Given the description of an element on the screen output the (x, y) to click on. 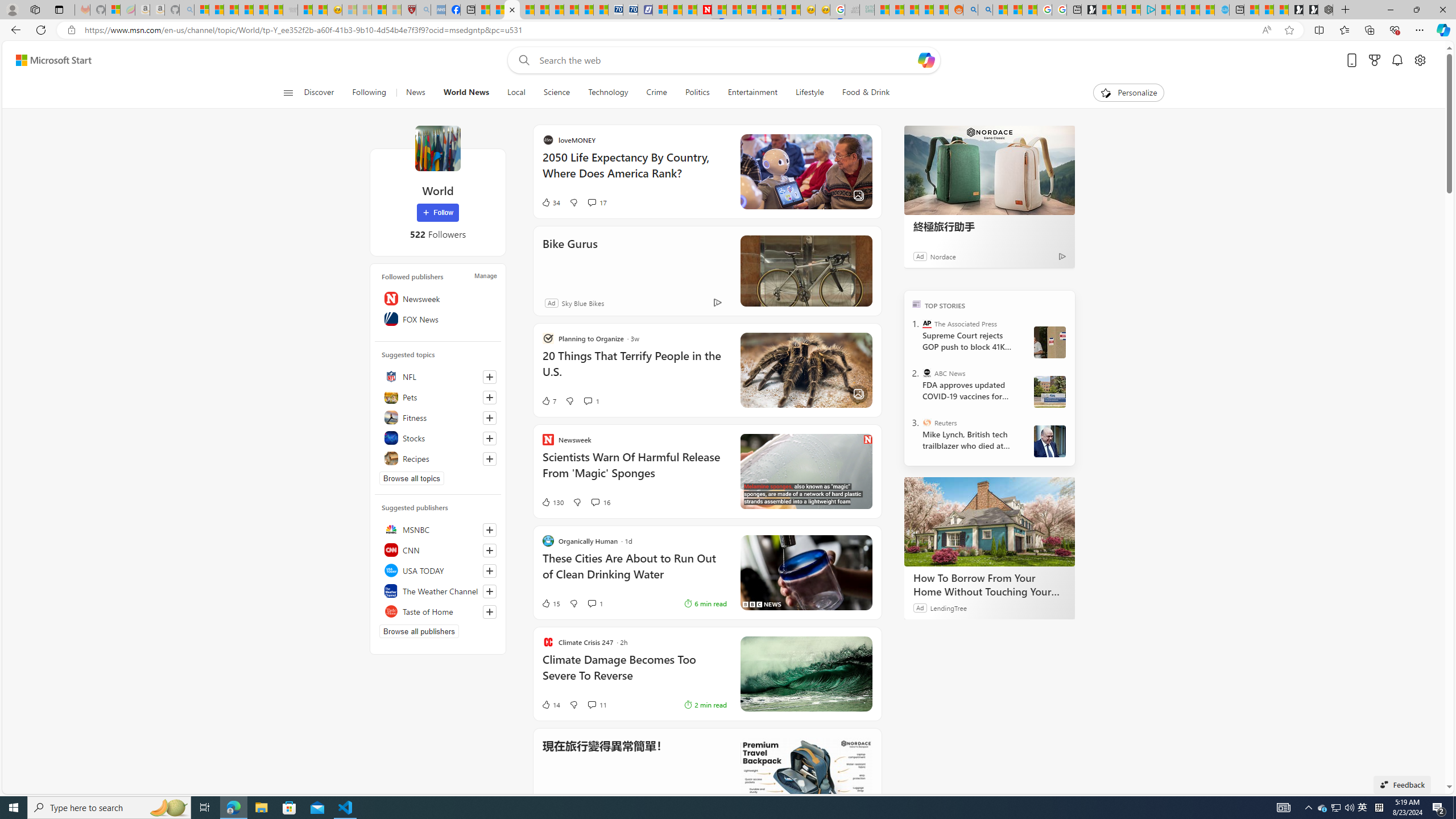
Bike Gurus (805, 270)
14 Like (549, 704)
